Given the description of an element on the screen output the (x, y) to click on. 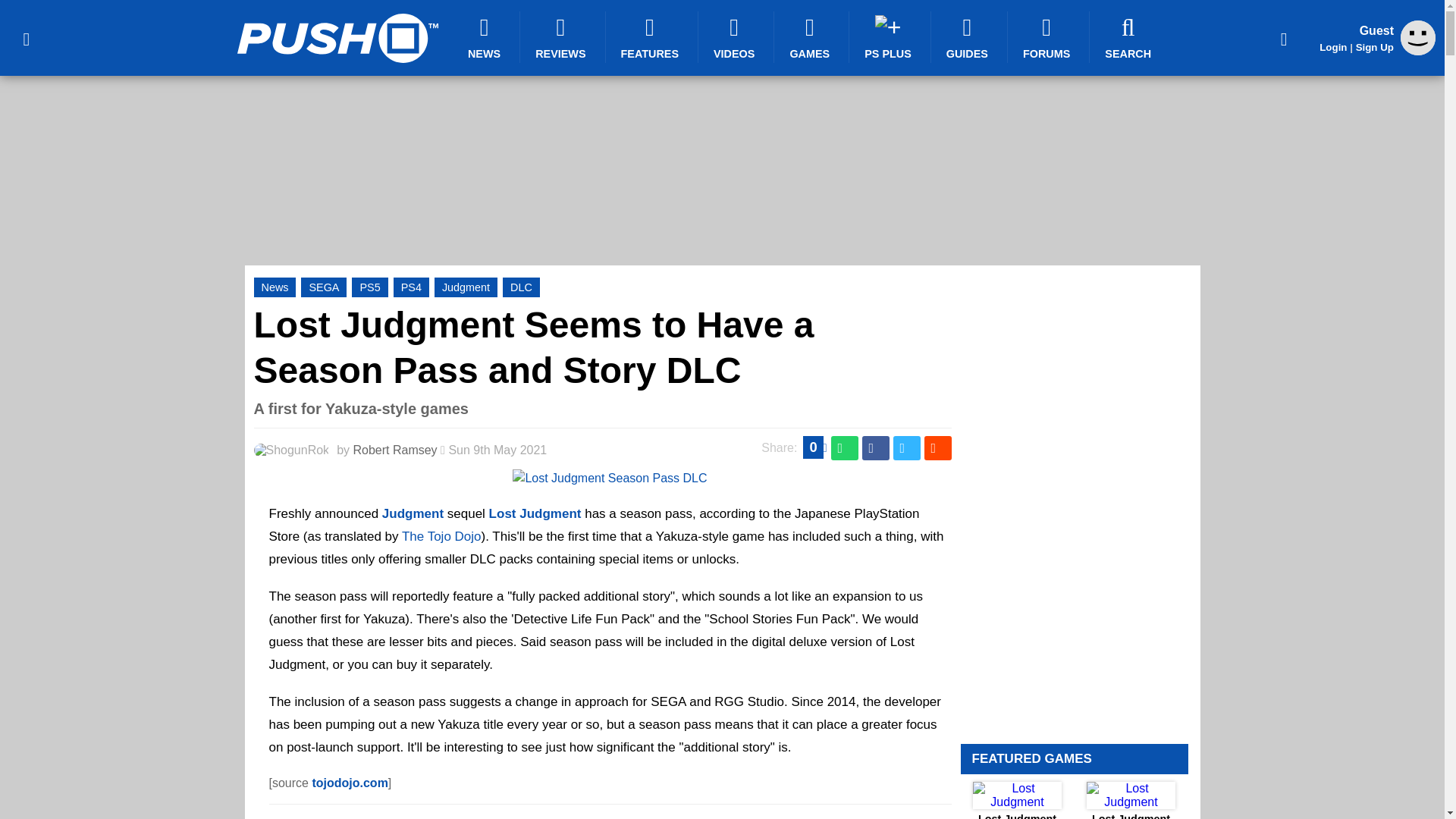
REVIEWS (562, 37)
VIDEOS (736, 37)
Lost Judgment Seems to Have a Season Pass and Story DLC (533, 347)
Robert Ramsey (394, 449)
Share this on Reddit (936, 447)
Lost Judgment Season Pass DLC (609, 477)
PS5 (369, 287)
Push Square (336, 38)
GUIDES (969, 37)
NEWS (485, 37)
Share This Page (1283, 37)
FORUMS (1048, 37)
FEATURES (651, 37)
Guest (1417, 51)
Share this on Facebook (874, 447)
